Given the description of an element on the screen output the (x, y) to click on. 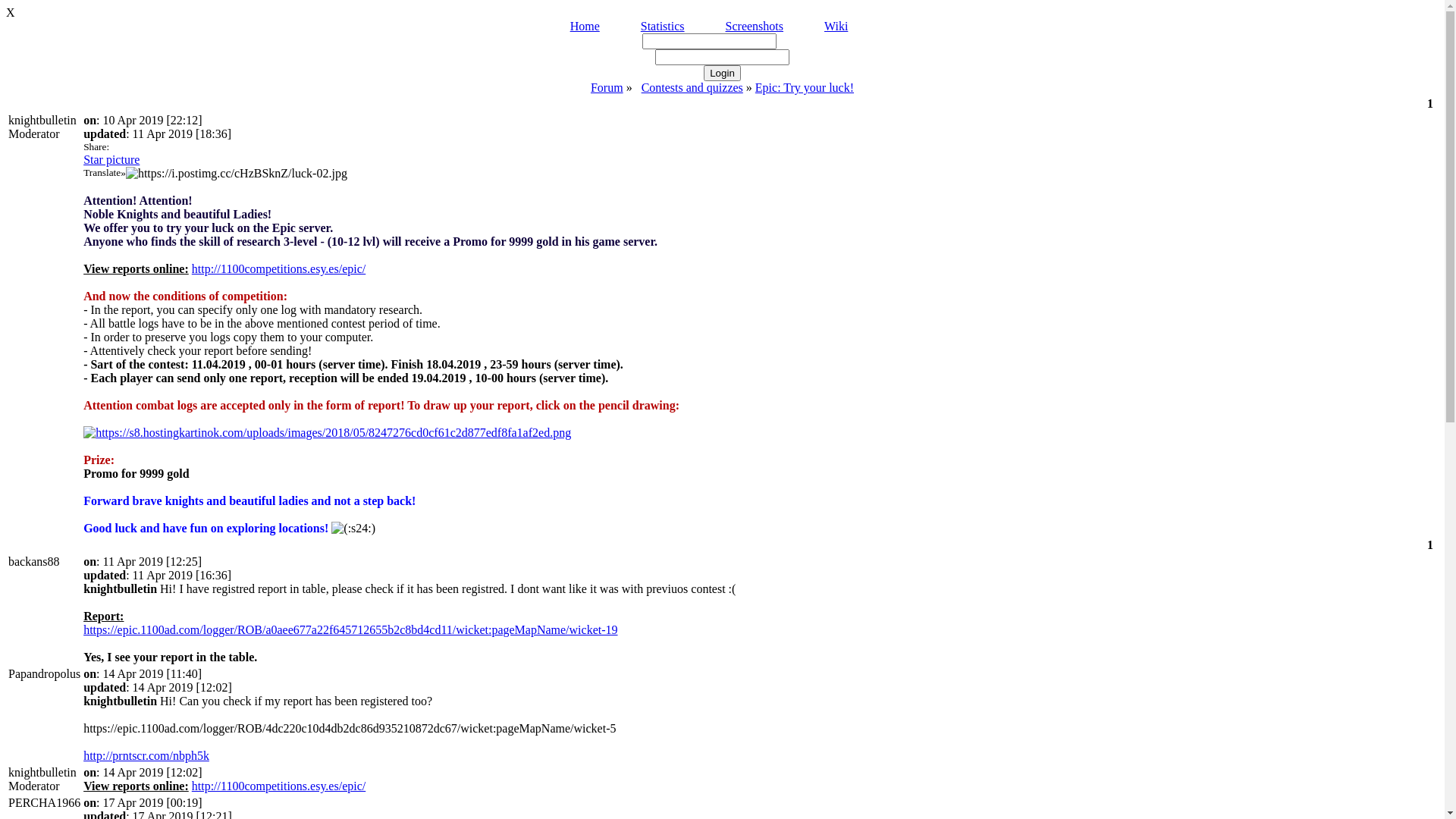
Screenshots Element type: text (754, 25)
Statistics Element type: text (662, 25)
Wiki Element type: text (835, 25)
Star picture Element type: text (111, 159)
http://1100competitions.esy.es/epic/ Element type: text (278, 268)
Login Element type: text (721, 73)
http://1100competitions.esy.es/epic/ Element type: text (278, 785)
Contests and quizzes Element type: text (692, 87)
Epic: Try your luck! Element type: text (804, 87)
X Element type: text (722, 12)
http://prntscr.com/nbph5k Element type: text (146, 755)
Home Element type: text (584, 25)
Forum Element type: text (606, 87)
